Given the description of an element on the screen output the (x, y) to click on. 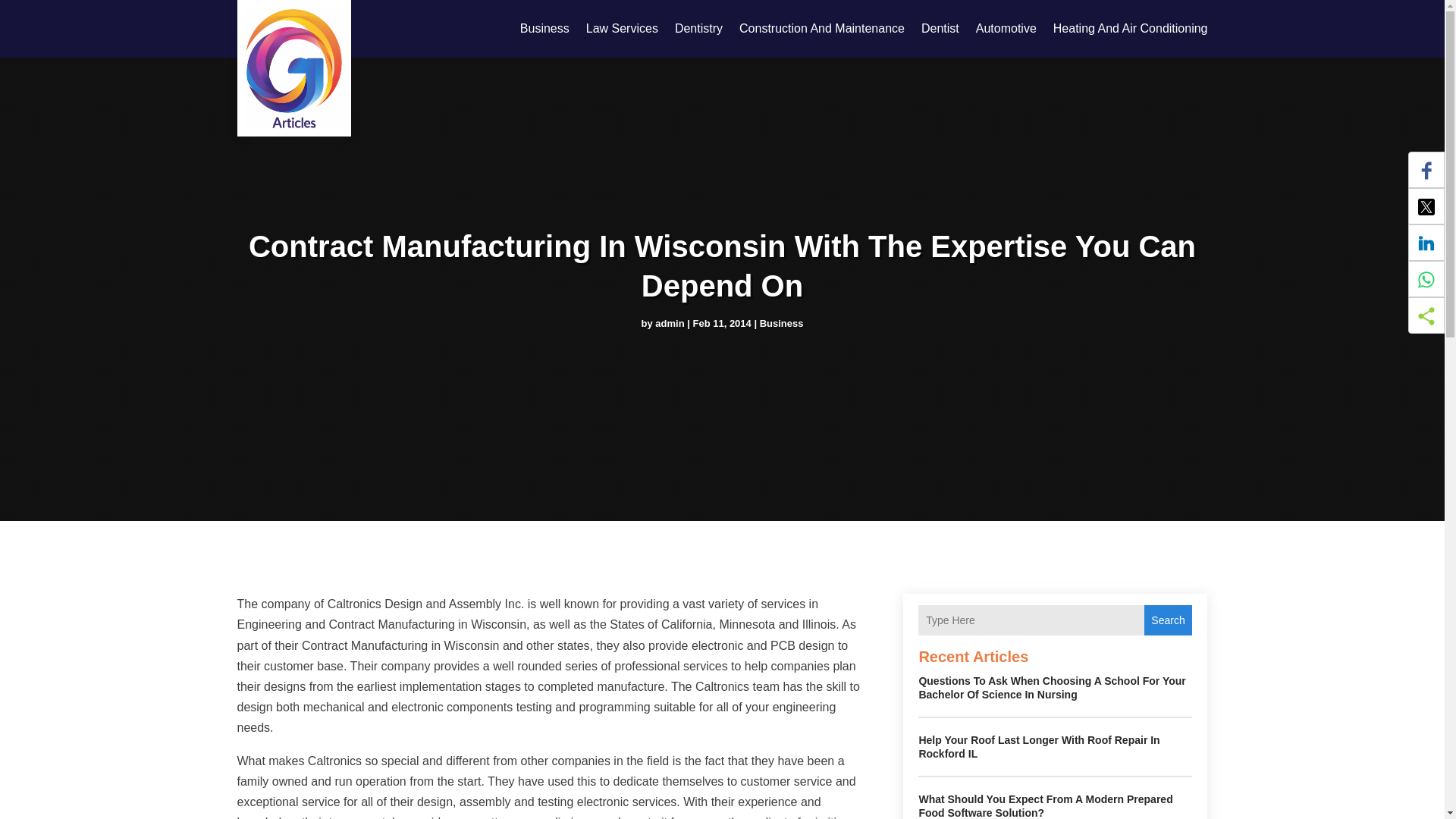
admin (669, 322)
Business (781, 322)
Construction And Maintenance (821, 28)
Heating And Air Conditioning (1130, 28)
Posts by admin (669, 322)
Automotive (1005, 28)
Help Your Roof Last Longer With Roof Repair In Rockford IL (1038, 746)
Law Services (622, 28)
Search (1168, 620)
